Given the description of an element on the screen output the (x, y) to click on. 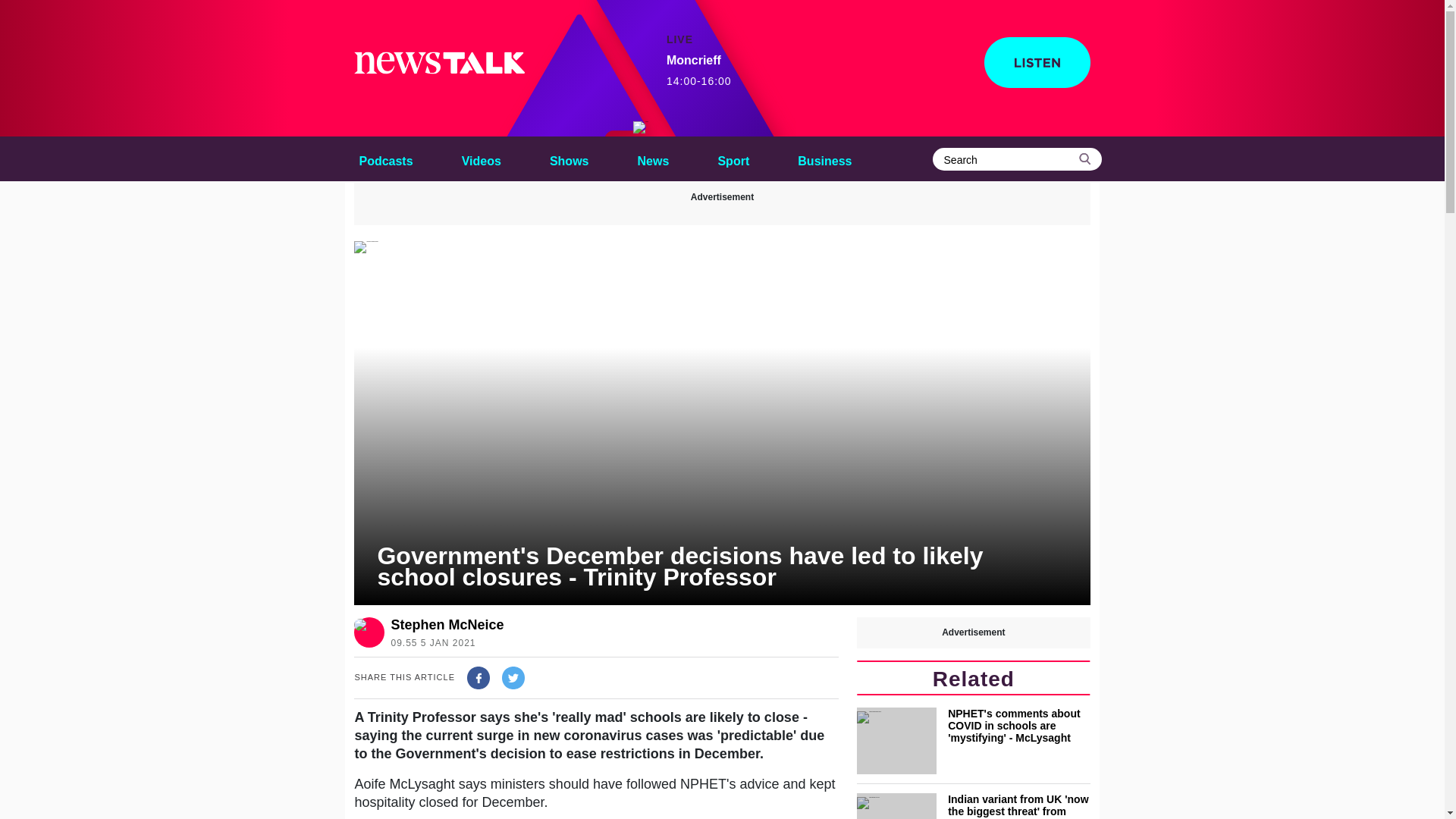
Business (824, 158)
Podcasts (384, 158)
Shows (569, 158)
Stephen McNeice (446, 624)
Business (824, 158)
Shows (569, 158)
Videos (481, 158)
Moncrieff (640, 127)
News (653, 158)
Videos (481, 158)
News (699, 70)
Sport (653, 158)
Podcasts (733, 158)
